Given the description of an element on the screen output the (x, y) to click on. 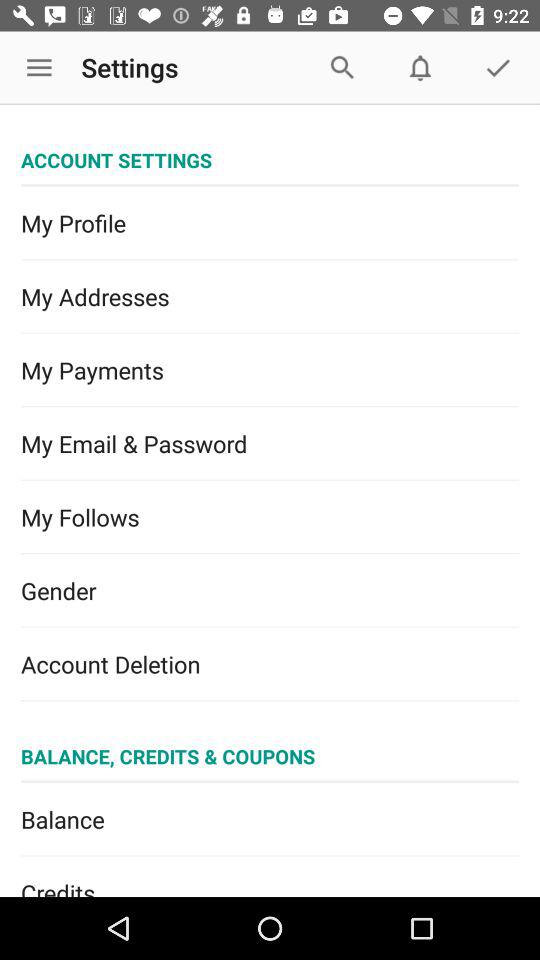
launch item below the my payments (270, 443)
